Given the description of an element on the screen output the (x, y) to click on. 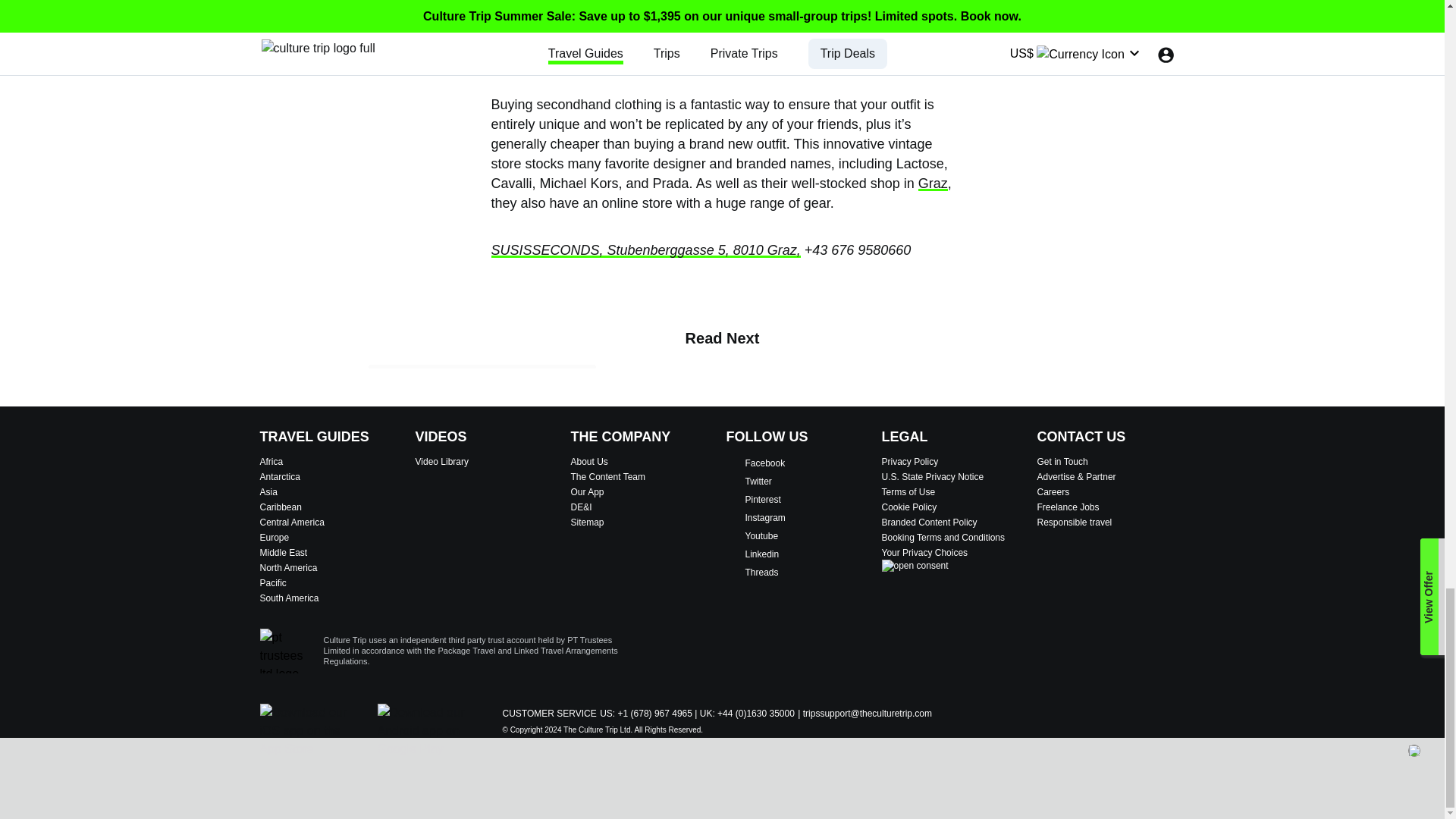
Central America (333, 522)
Caribbean (333, 507)
Asia (333, 491)
Europe (333, 537)
North America (333, 567)
SUSISSECONDS, Stubenberggasse 5, 8010 Graz, (646, 249)
Middle East (333, 552)
Antarctica (333, 476)
Graz (932, 183)
Africa (333, 461)
